Given the description of an element on the screen output the (x, y) to click on. 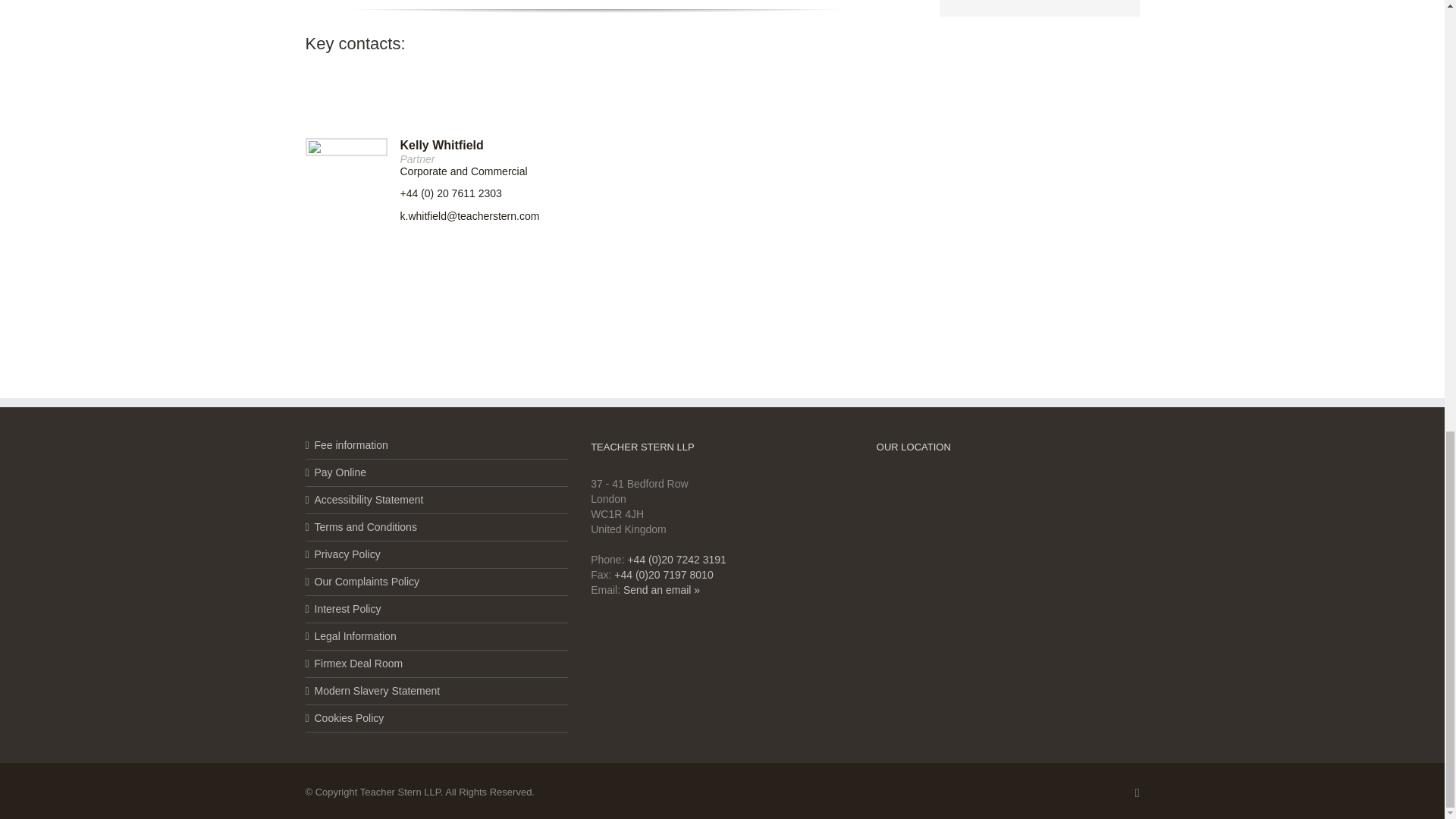
Kelly Whitfield (441, 144)
Photo of Kelly Whitfield (313, 146)
Kelly Whitfield work email. (470, 215)
Key contacts: (596, 40)
Corporate and Commercial (463, 171)
